Given the description of an element on the screen output the (x, y) to click on. 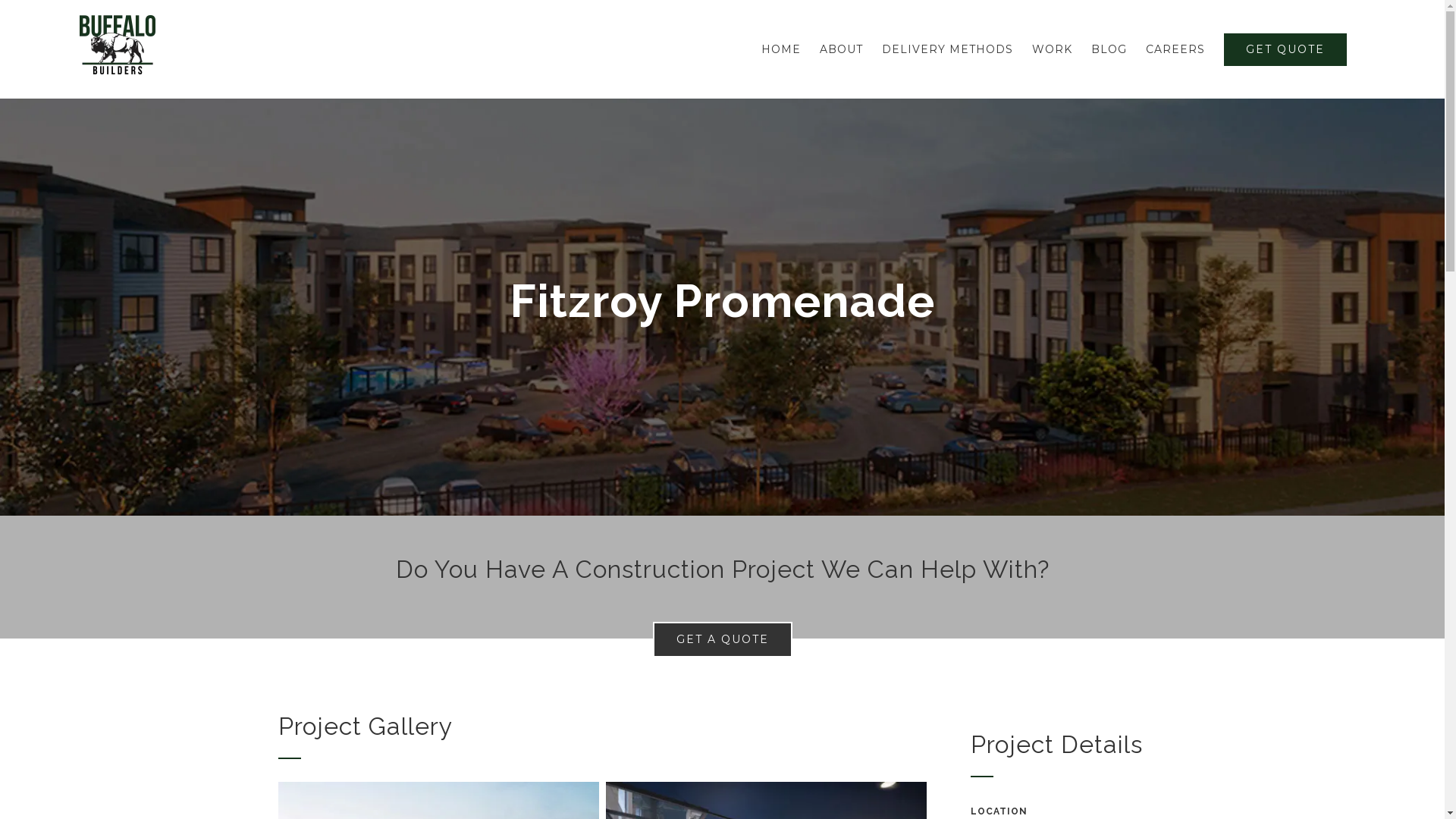
DELIVERY METHODS Element type: text (947, 49)
GET A QUOTE Element type: text (721, 639)
ABOUT Element type: text (840, 49)
WORK Element type: text (1052, 49)
GET QUOTE Element type: text (1284, 49)
CAREERS Element type: text (1174, 49)
HOME Element type: text (780, 49)
BLOG Element type: text (1108, 49)
